Given the description of an element on the screen output the (x, y) to click on. 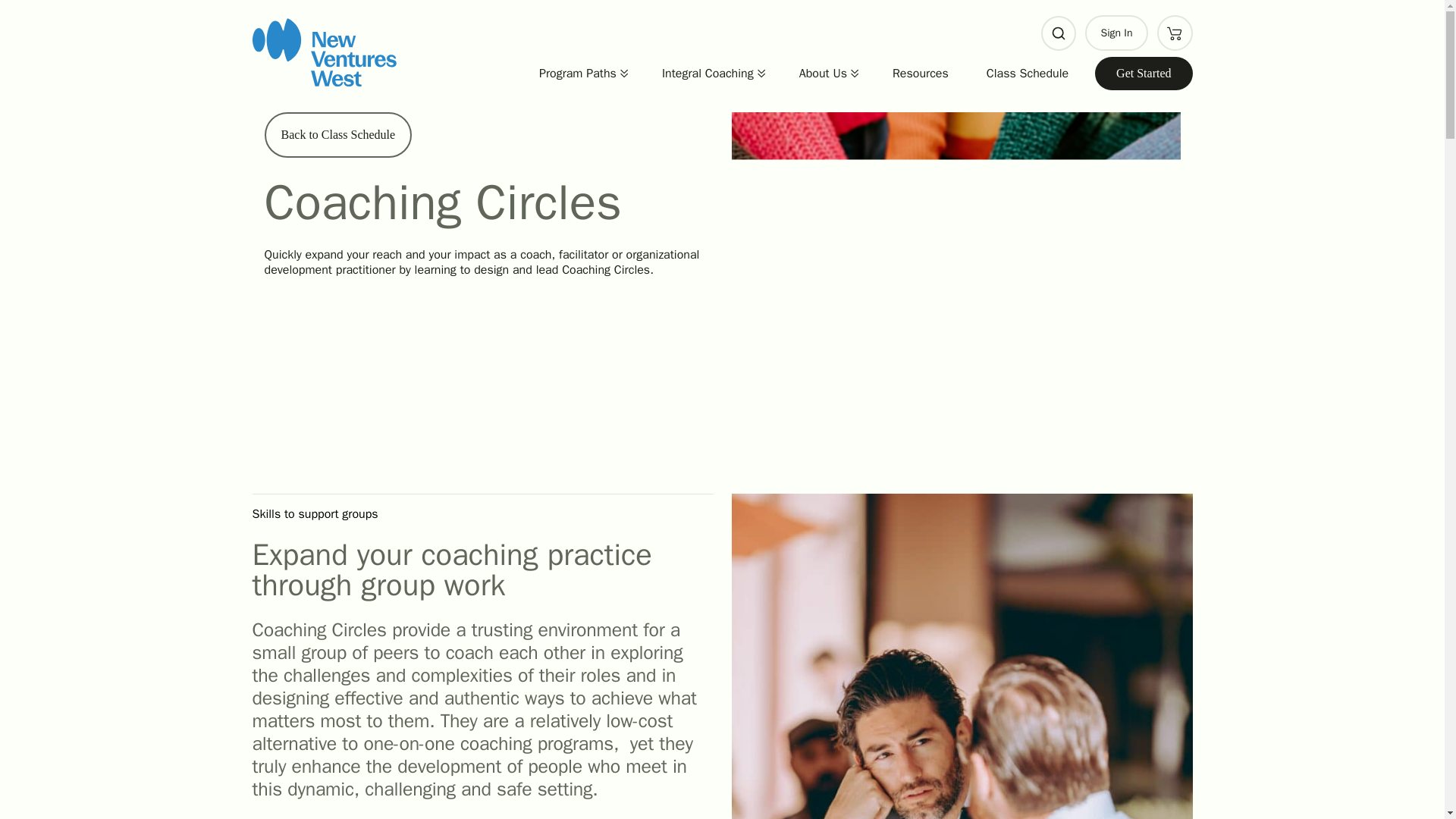
About Us (818, 73)
Program Paths (573, 73)
Sign In (1116, 32)
Resources (919, 73)
Get Started (1143, 73)
Back to Class Schedule (337, 135)
Class Schedule (1027, 73)
Integral Coaching (703, 73)
Back to Class Schedule (337, 134)
